Given the description of an element on the screen output the (x, y) to click on. 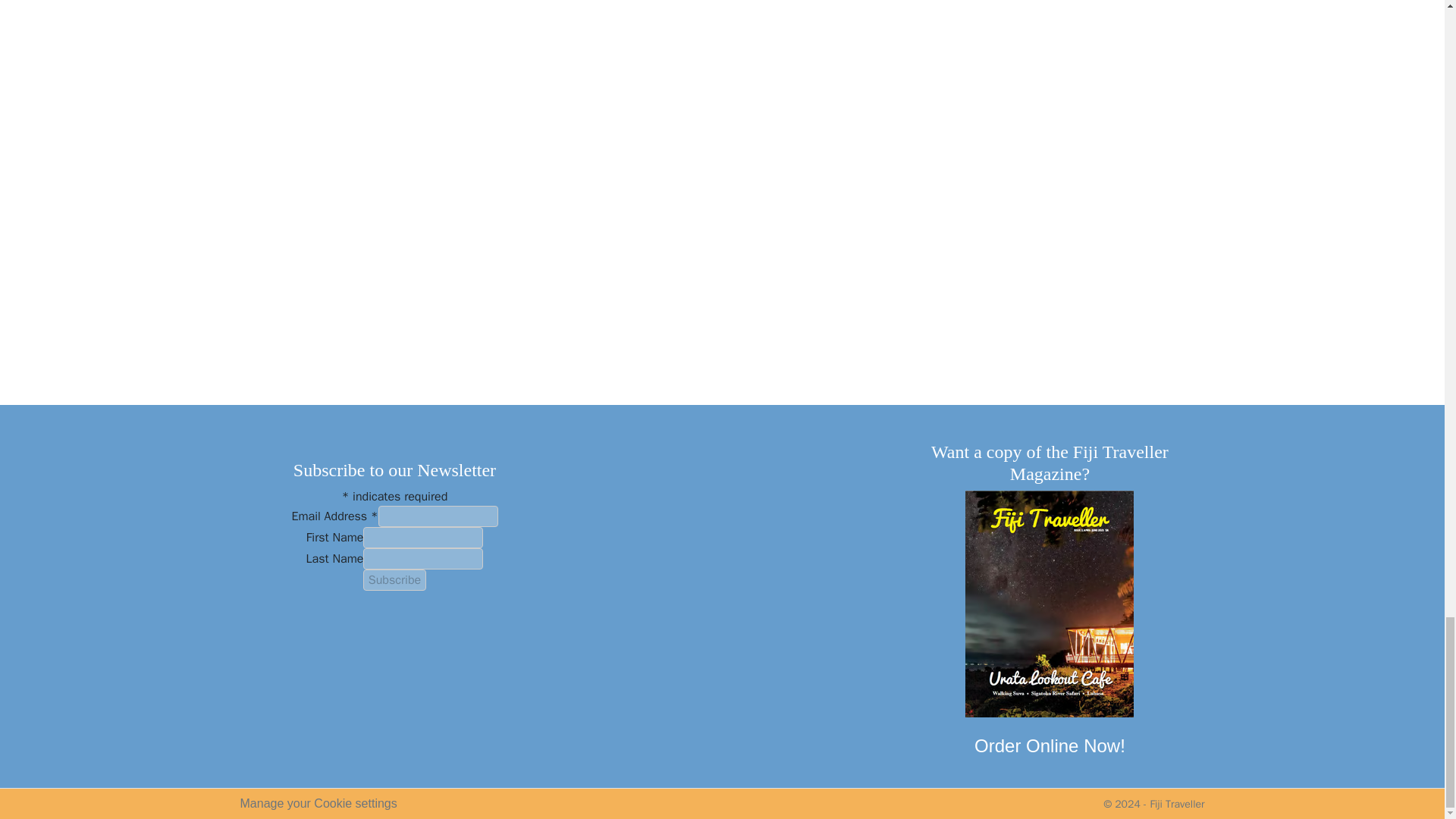
Subscribe (394, 579)
